Given the description of an element on the screen output the (x, y) to click on. 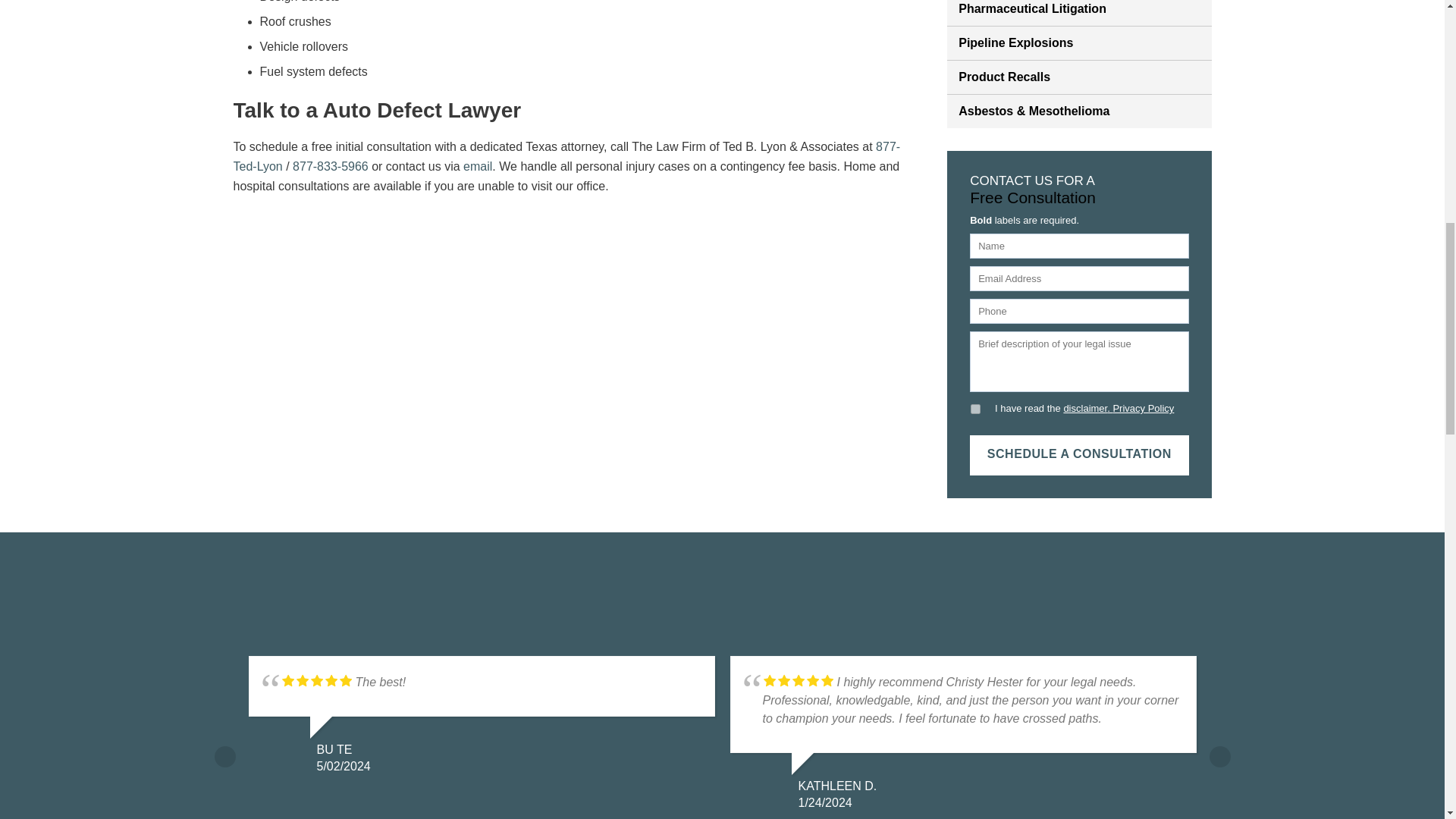
Schedule a Consultation (1078, 454)
